Given the description of an element on the screen output the (x, y) to click on. 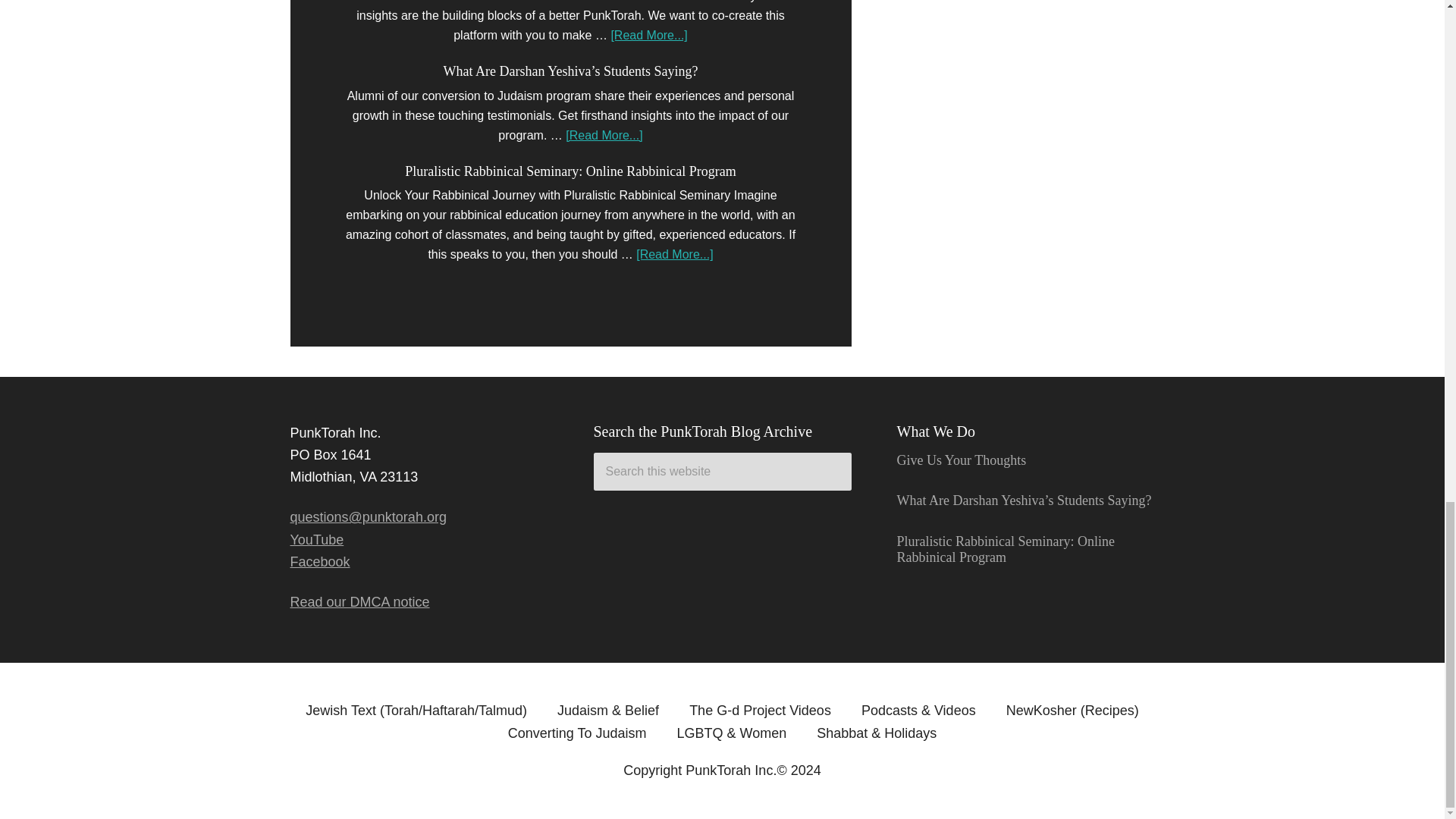
Give Us Your Thoughts (961, 459)
Pluralistic Rabbinical Seminary: Online Rabbinical Program (569, 171)
Facebook (319, 561)
Read our DMCA notice (359, 601)
YouTube (316, 539)
